Given the description of an element on the screen output the (x, y) to click on. 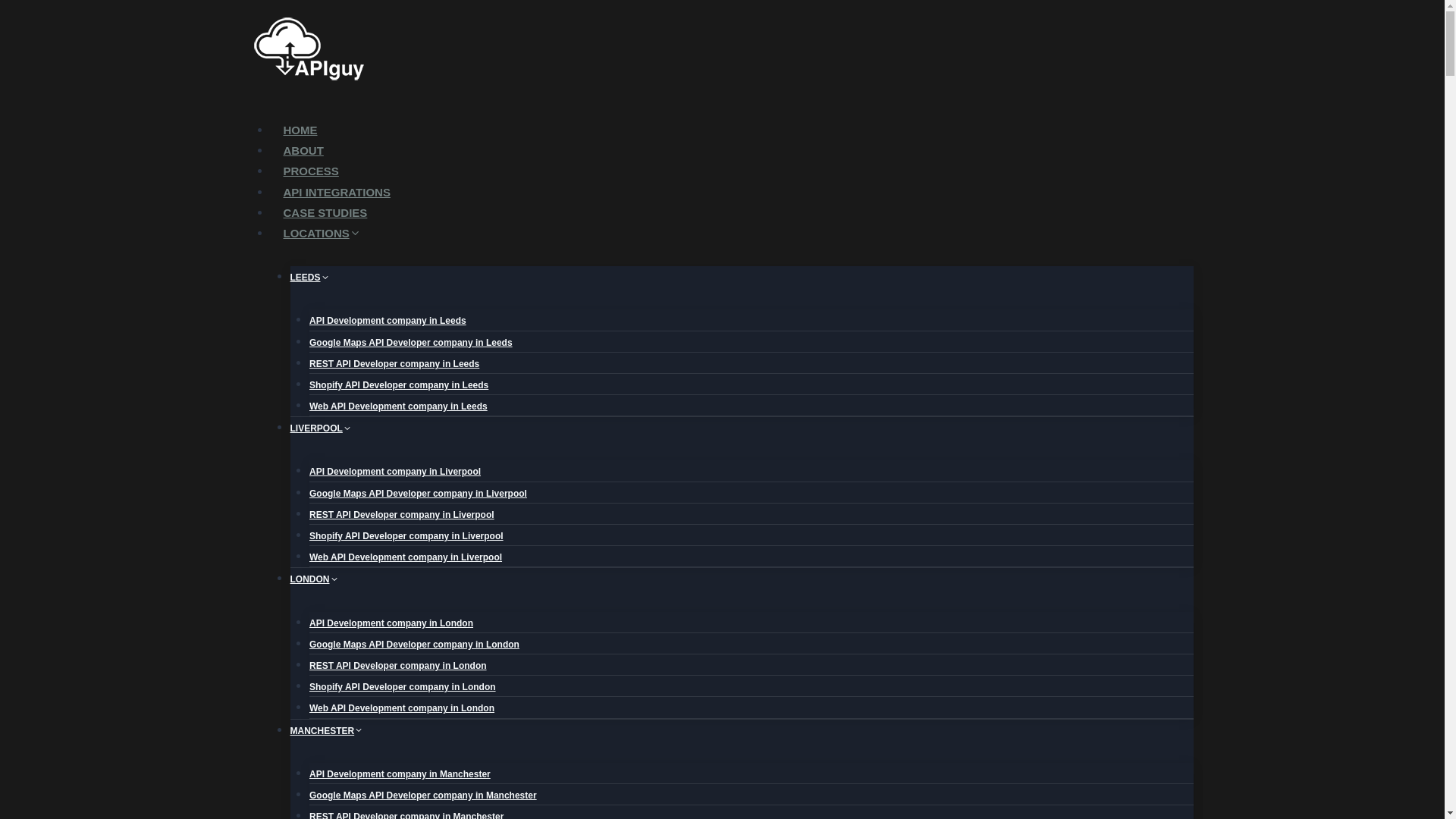
API Development company in Manchester (399, 774)
LONDON (313, 579)
REST API Developer company in Leeds (393, 363)
REST API Developer company in Manchester (405, 810)
MANCHESTER (325, 729)
Web API Development company in London (401, 707)
HOME (300, 130)
REST API Developer company in Liverpool (401, 514)
API Development company in Leeds (386, 320)
API INTEGRATIONS (336, 192)
Web API Development company in Liverpool (405, 556)
Shopify API Developer company in Leeds (397, 385)
ABOUT (303, 150)
Google Maps API Developer company in London (413, 644)
Web API Development company in Leeds (397, 406)
